Given the description of an element on the screen output the (x, y) to click on. 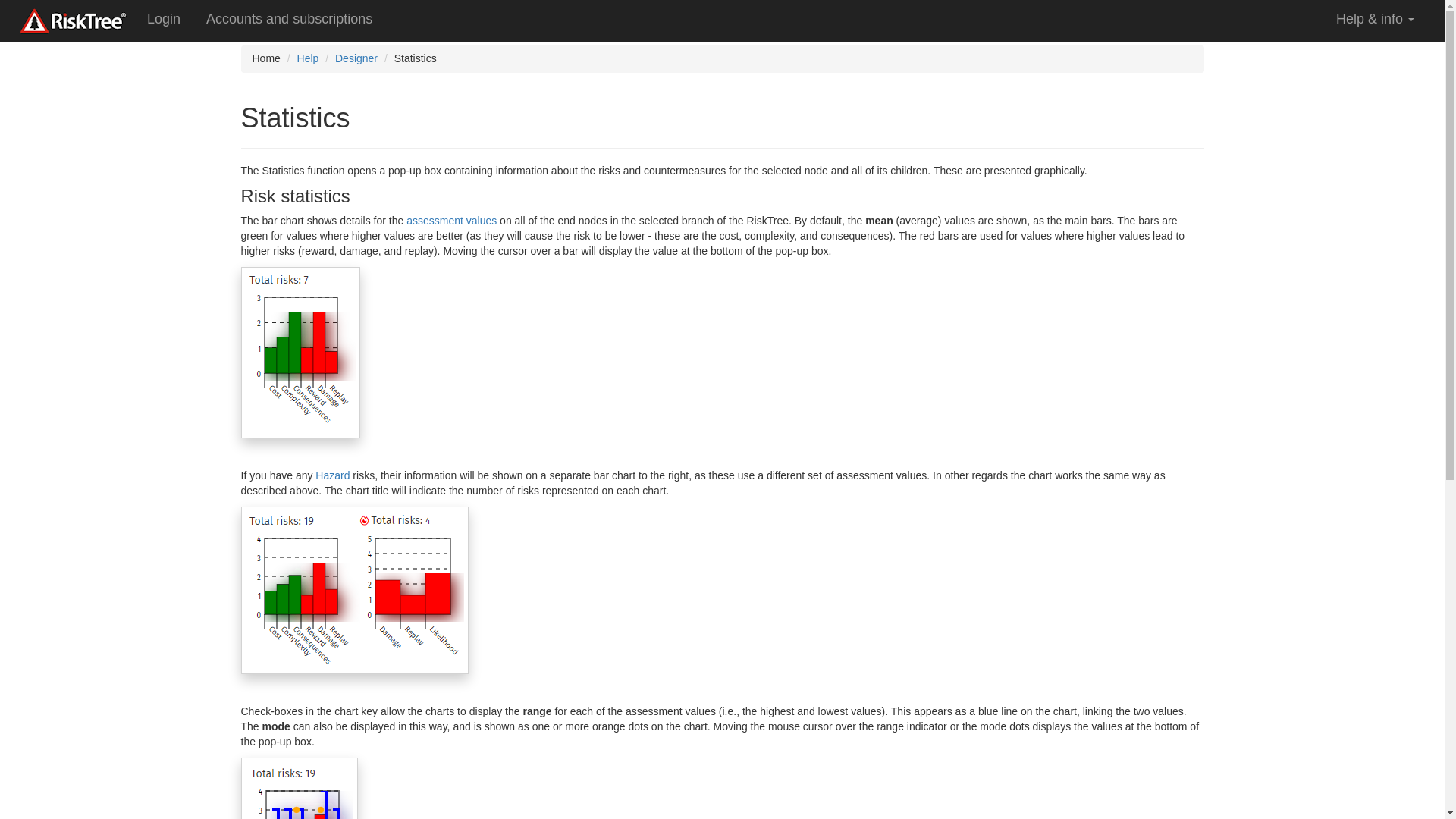
 Accounts and subscriptions (288, 20)
Designer (355, 58)
Help (307, 58)
RiskTree, from 2T Security (73, 21)
assessment values (451, 220)
The risk chart (354, 590)
Hazard (332, 475)
 Login (162, 20)
The risk chart showing mean, range, and mode (299, 788)
